Given the description of an element on the screen output the (x, y) to click on. 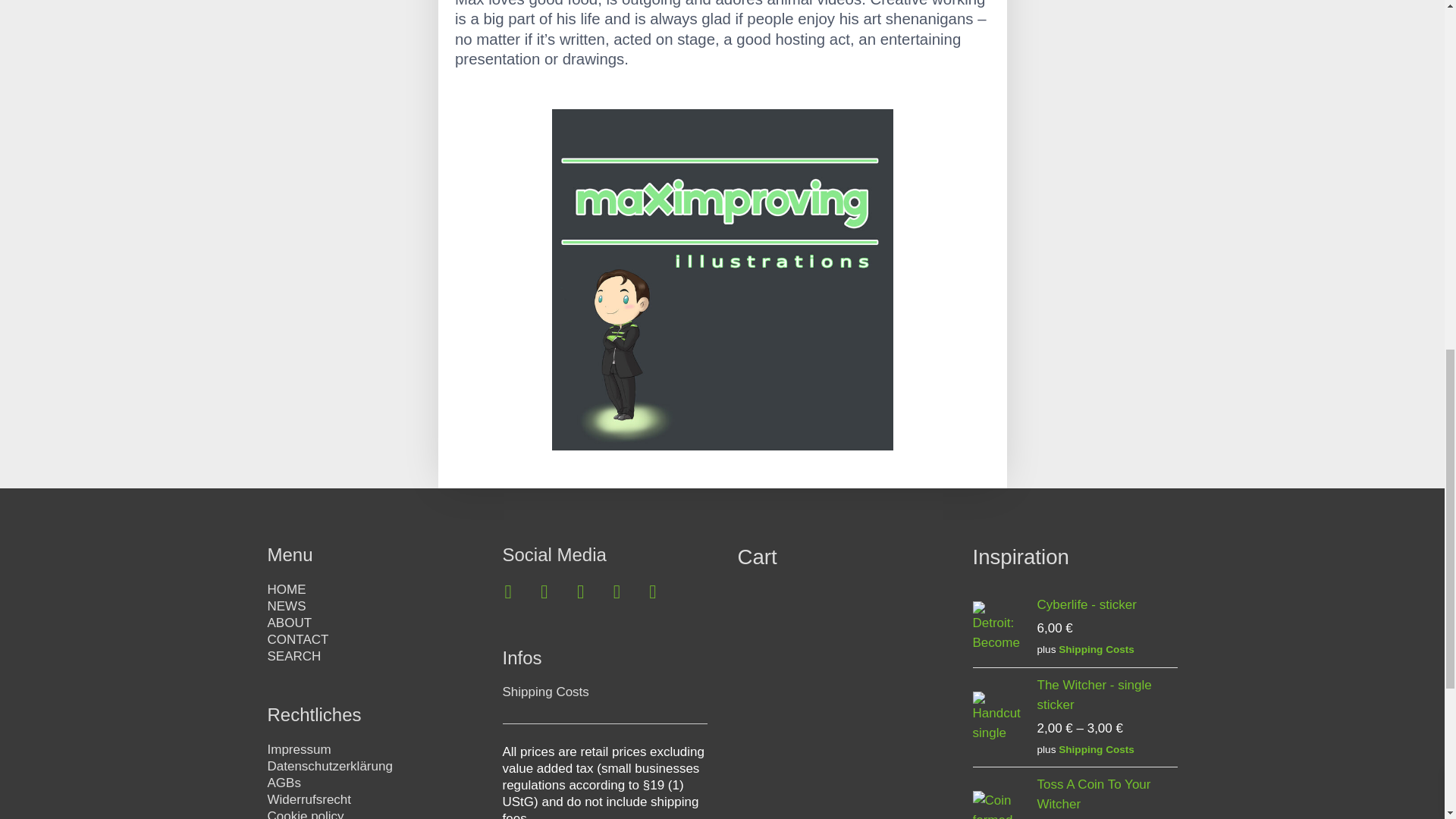
Shipping Costs (1096, 649)
Toss A Coin To Your Witcher (1106, 794)
The Witcher - single sticker (1106, 694)
facebook (508, 590)
HOME (285, 589)
Cookie policy (304, 814)
Shipping Costs (1096, 749)
AGBs (282, 782)
Cyberlife - sticker (1106, 605)
tumblr (617, 590)
CONTACT (297, 639)
Default Label (652, 590)
Impressum (298, 749)
NEWS (285, 605)
ABOUT (288, 622)
